Given the description of an element on the screen output the (x, y) to click on. 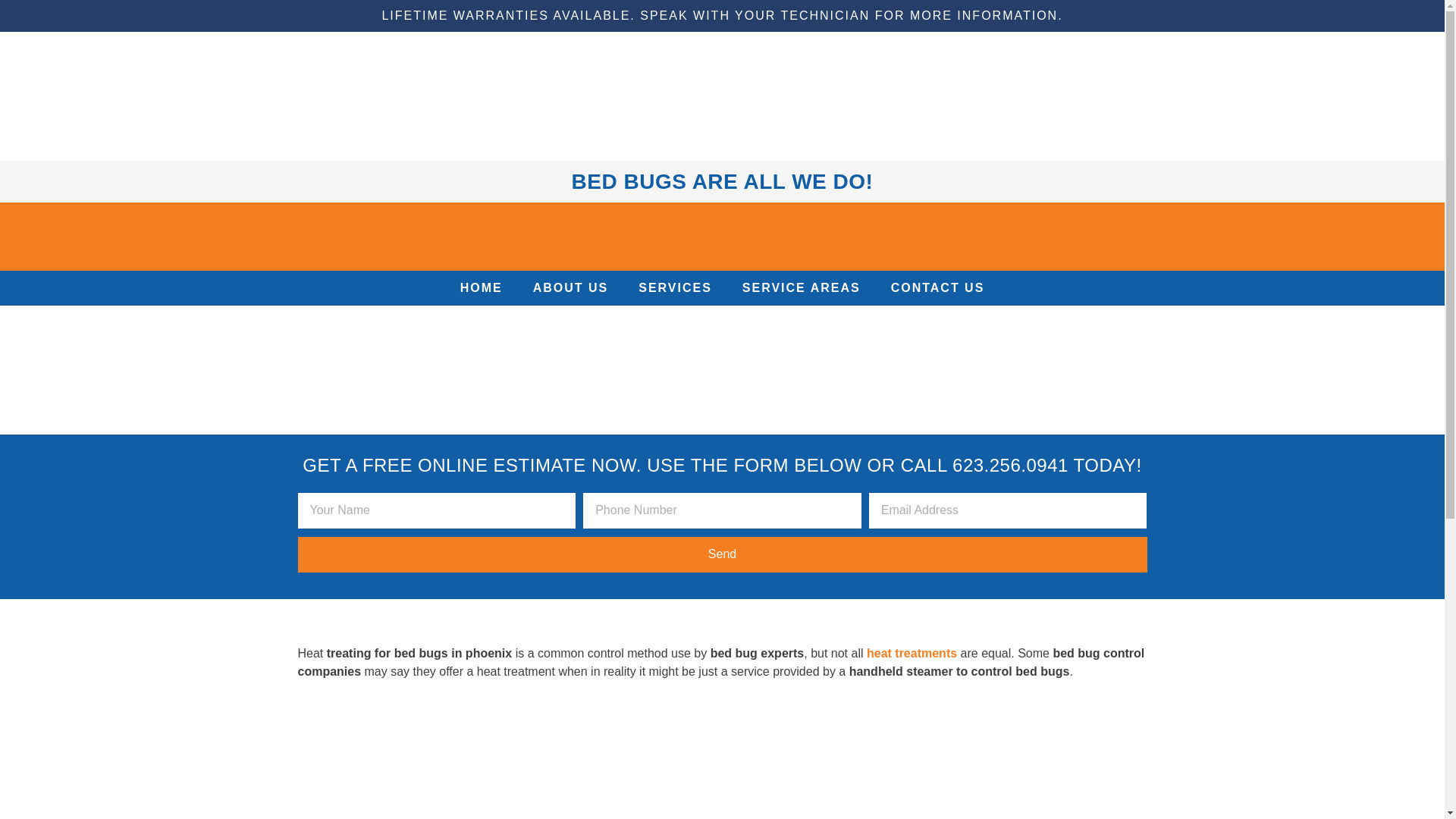
ABOUT US (571, 288)
heat treatments (911, 653)
SERVICE AREAS (801, 288)
HOME (481, 288)
SERVICES (674, 288)
CONTACT US (938, 288)
Send (722, 554)
